Given the description of an element on the screen output the (x, y) to click on. 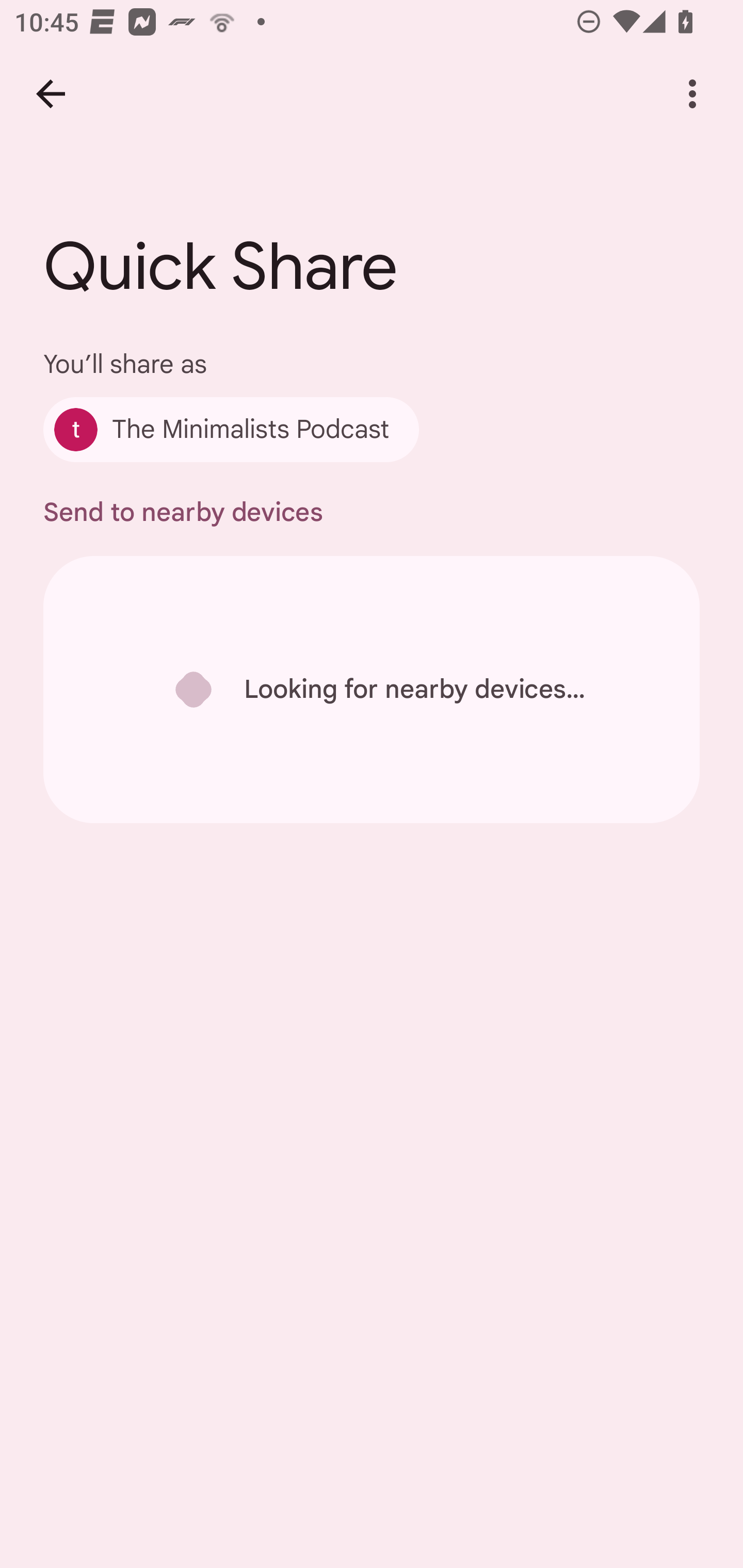
Back (50, 93)
More (692, 93)
The Minimalists Podcast (231, 429)
